Given the description of an element on the screen output the (x, y) to click on. 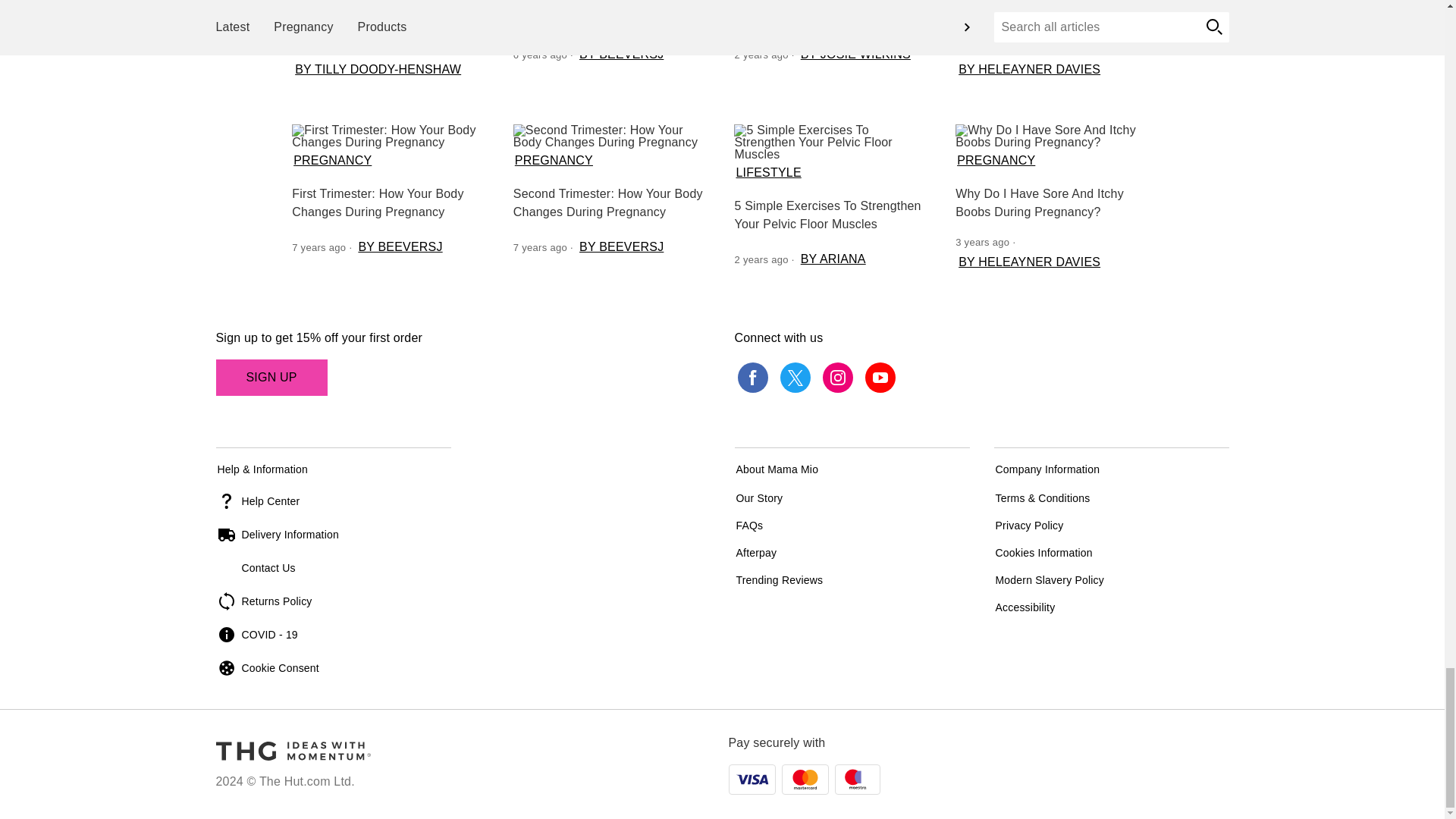
twitter (794, 377)
youtube (879, 377)
facebook (751, 377)
instagram (837, 377)
